Given the description of an element on the screen output the (x, y) to click on. 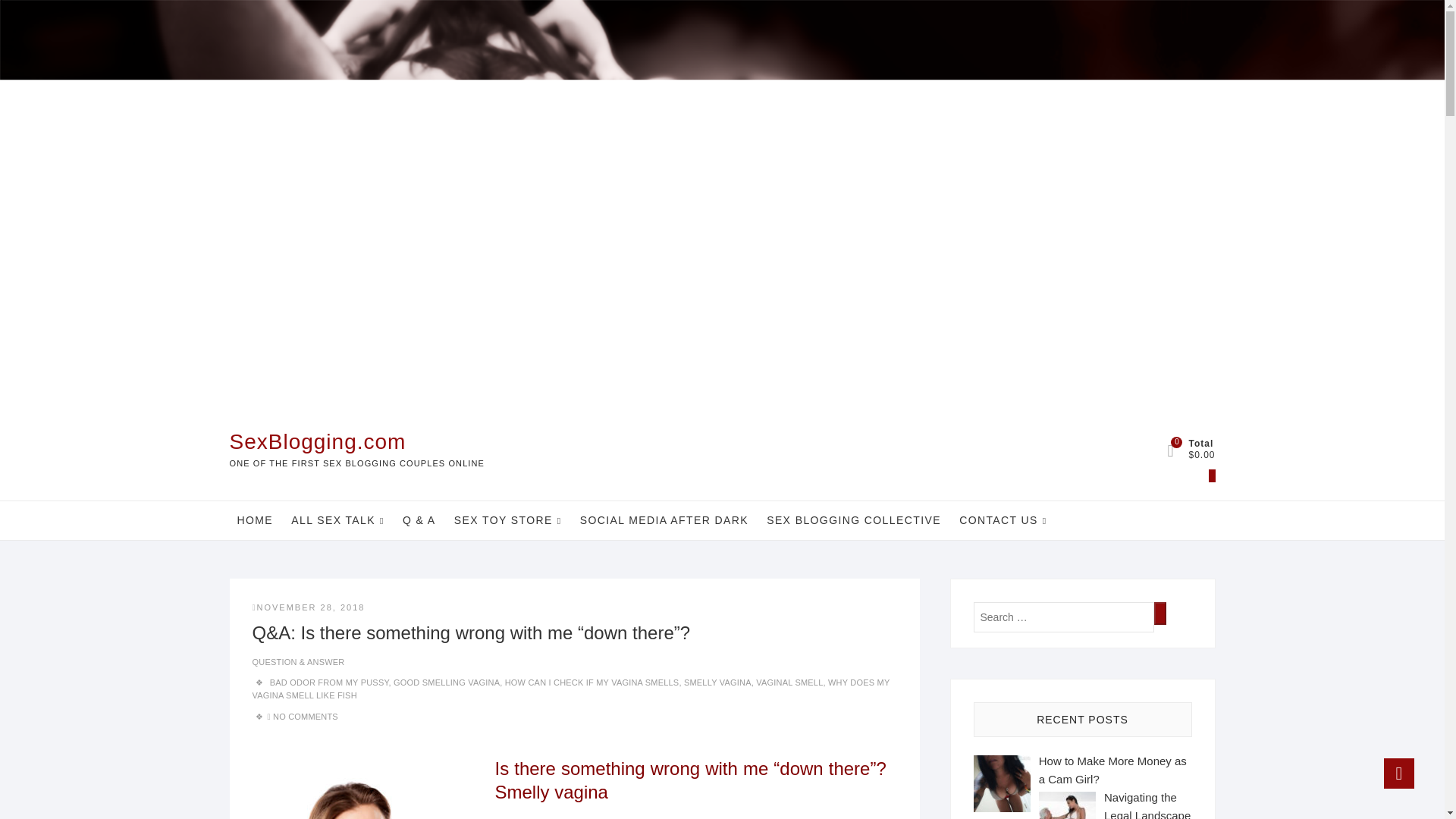
HOME (254, 519)
SEX BLOGGING COLLECTIVE (853, 519)
SOCIAL MEDIA AFTER DARK (663, 519)
GOOD SMELLING VAGINA (446, 682)
ALL SEX TALK (337, 520)
NOVEMBER 28, 2018 (308, 606)
SexBlogging.com (356, 441)
CONTACT US (1003, 520)
SexBlogging.com (356, 441)
0 (1234, 490)
